Given the description of an element on the screen output the (x, y) to click on. 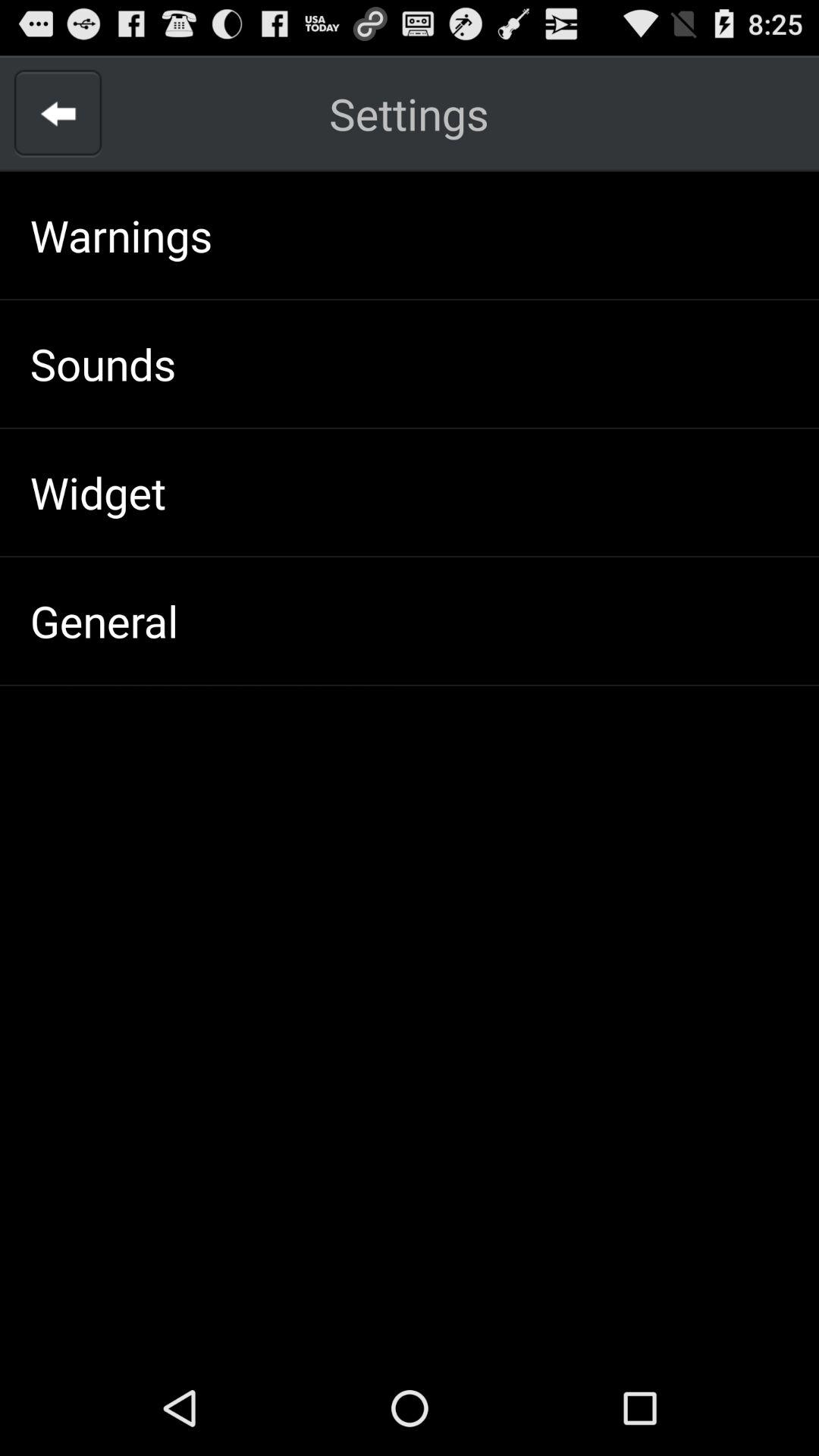
open the app above widget (103, 363)
